Given the description of an element on the screen output the (x, y) to click on. 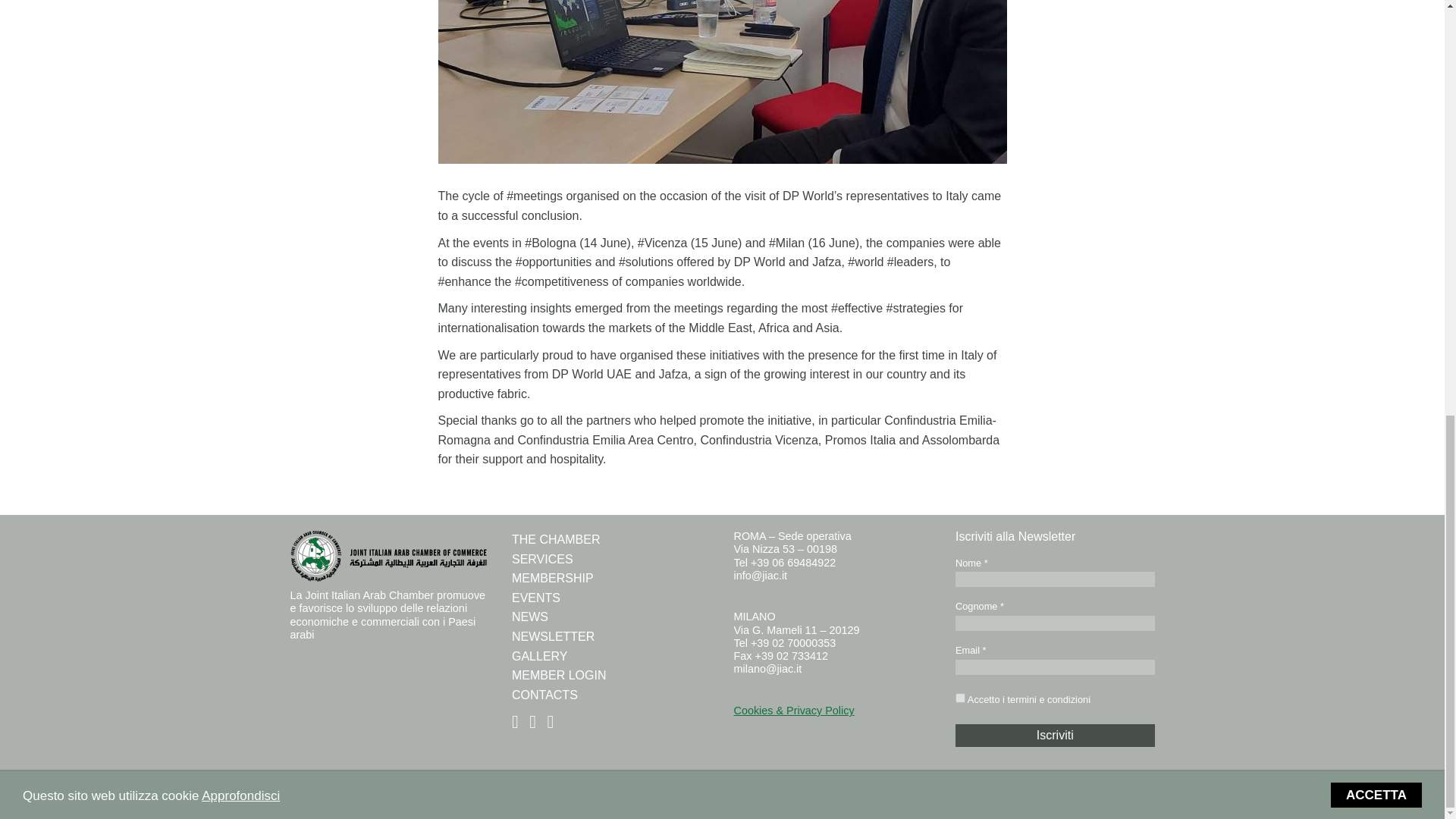
Email (1054, 667)
Iscriviti (1054, 734)
Nome (1054, 579)
on (960, 697)
Cognome (1054, 622)
